Given the description of an element on the screen output the (x, y) to click on. 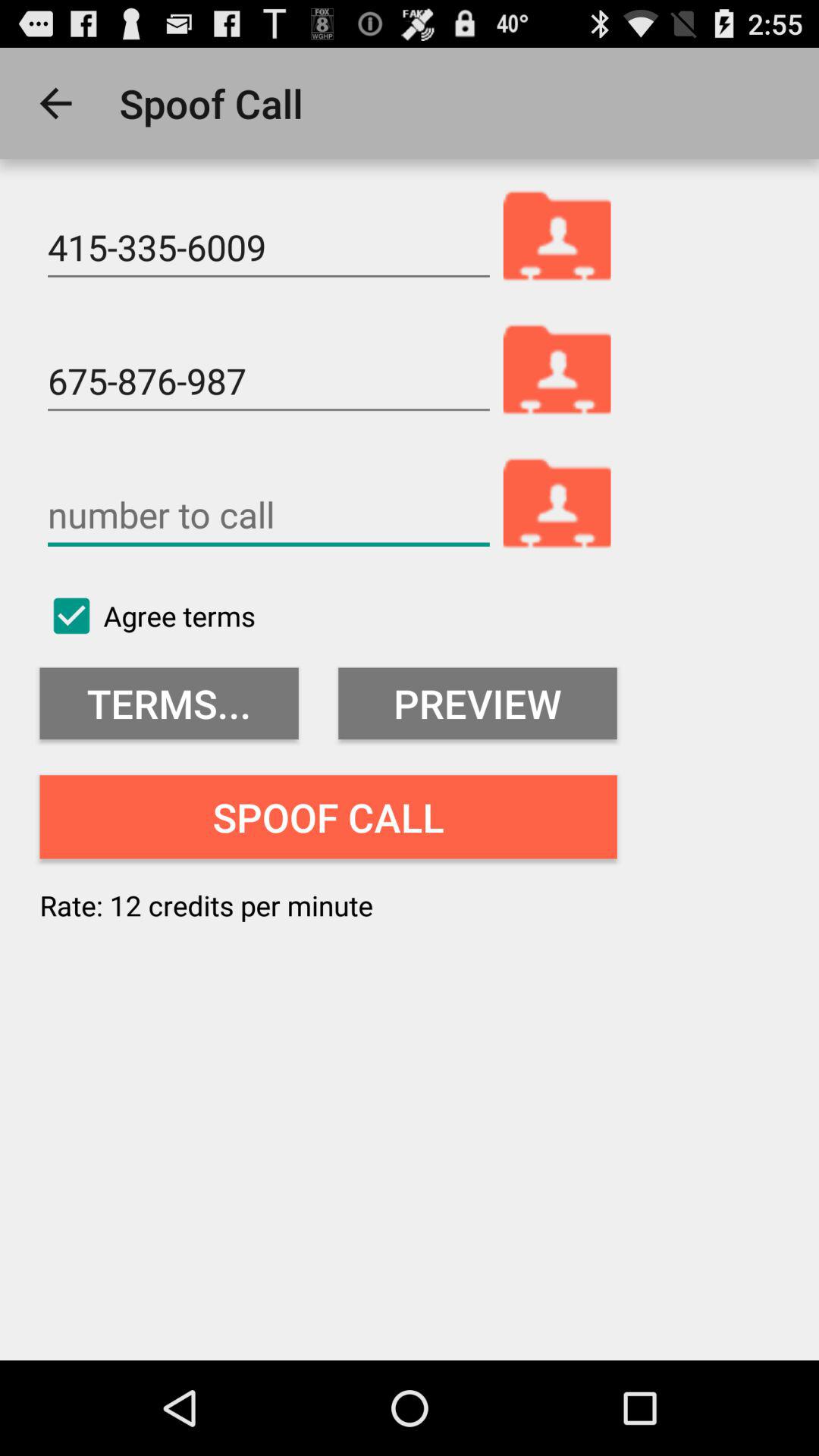
swipe to 675-876-987 icon (268, 381)
